Given the description of an element on the screen output the (x, y) to click on. 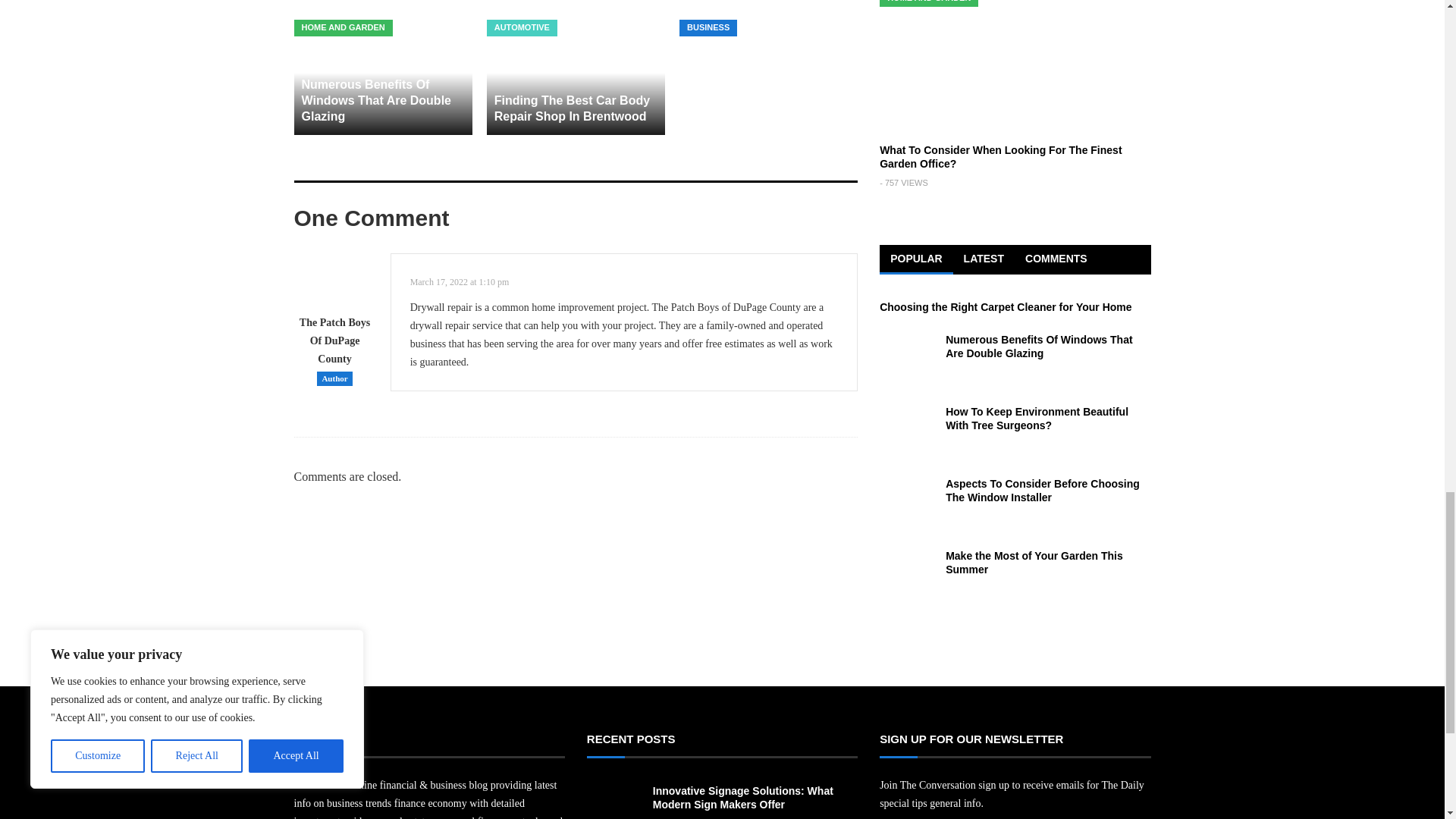
Popular (915, 259)
Thursday, March 17, 2022, 1:10 pm (459, 281)
Latest (983, 259)
Comments (1055, 259)
